Given the description of an element on the screen output the (x, y) to click on. 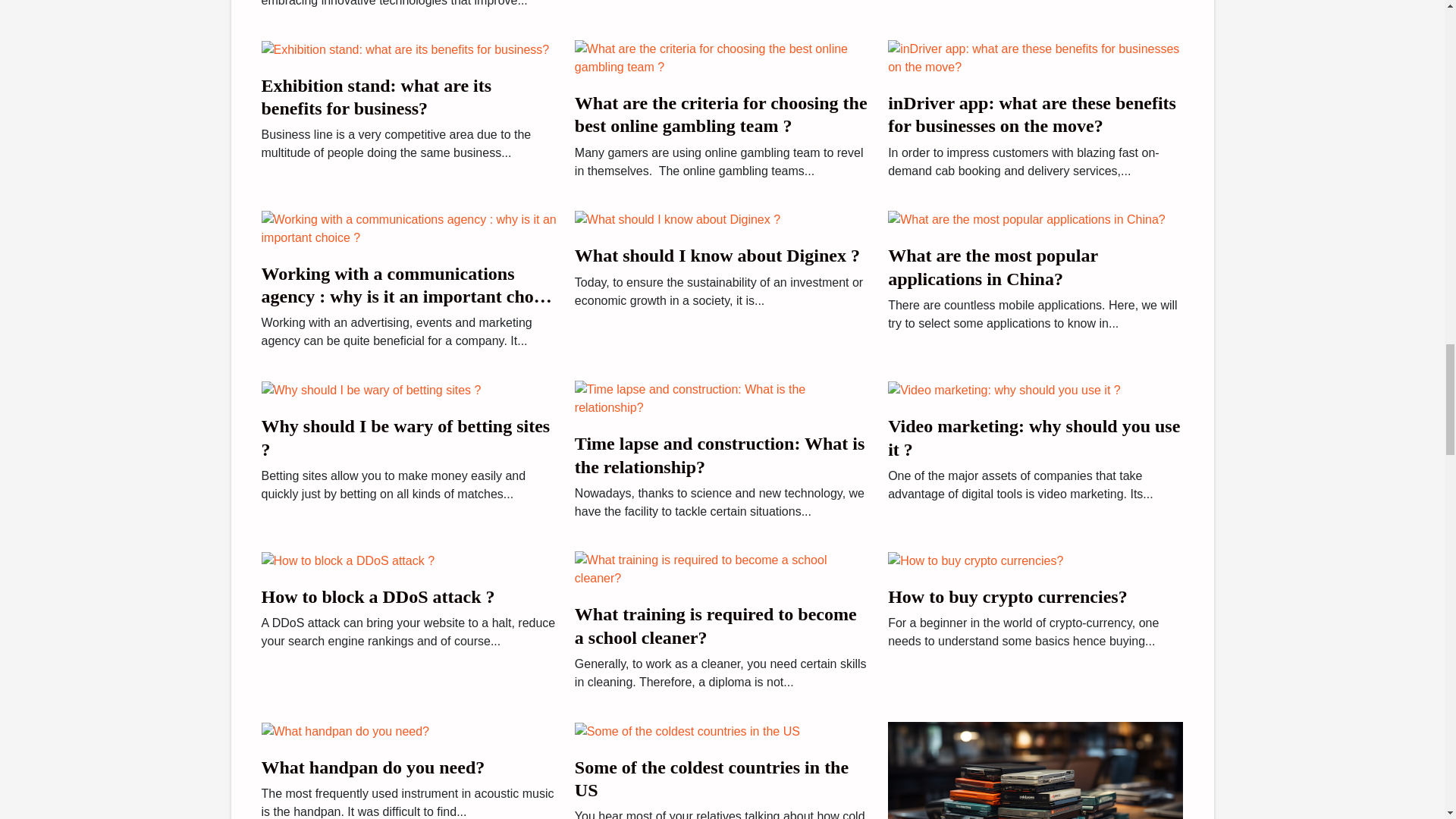
Exhibition stand: what are its benefits for business? (404, 48)
Exhibition stand: what are its benefits for business? (376, 96)
